Given the description of an element on the screen output the (x, y) to click on. 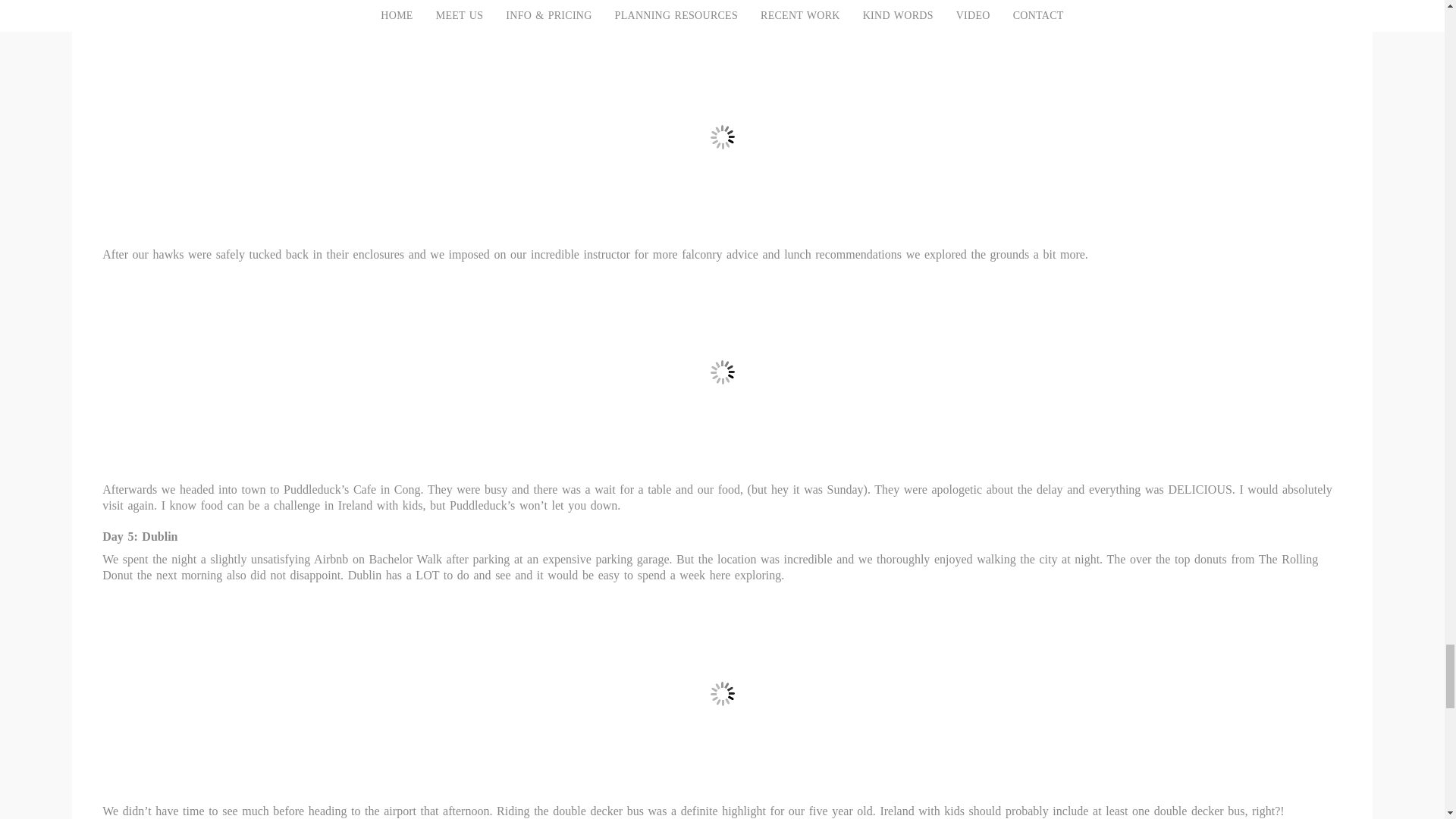
Ireland with kids, hawk walk (721, 13)
